Given the description of an element on the screen output the (x, y) to click on. 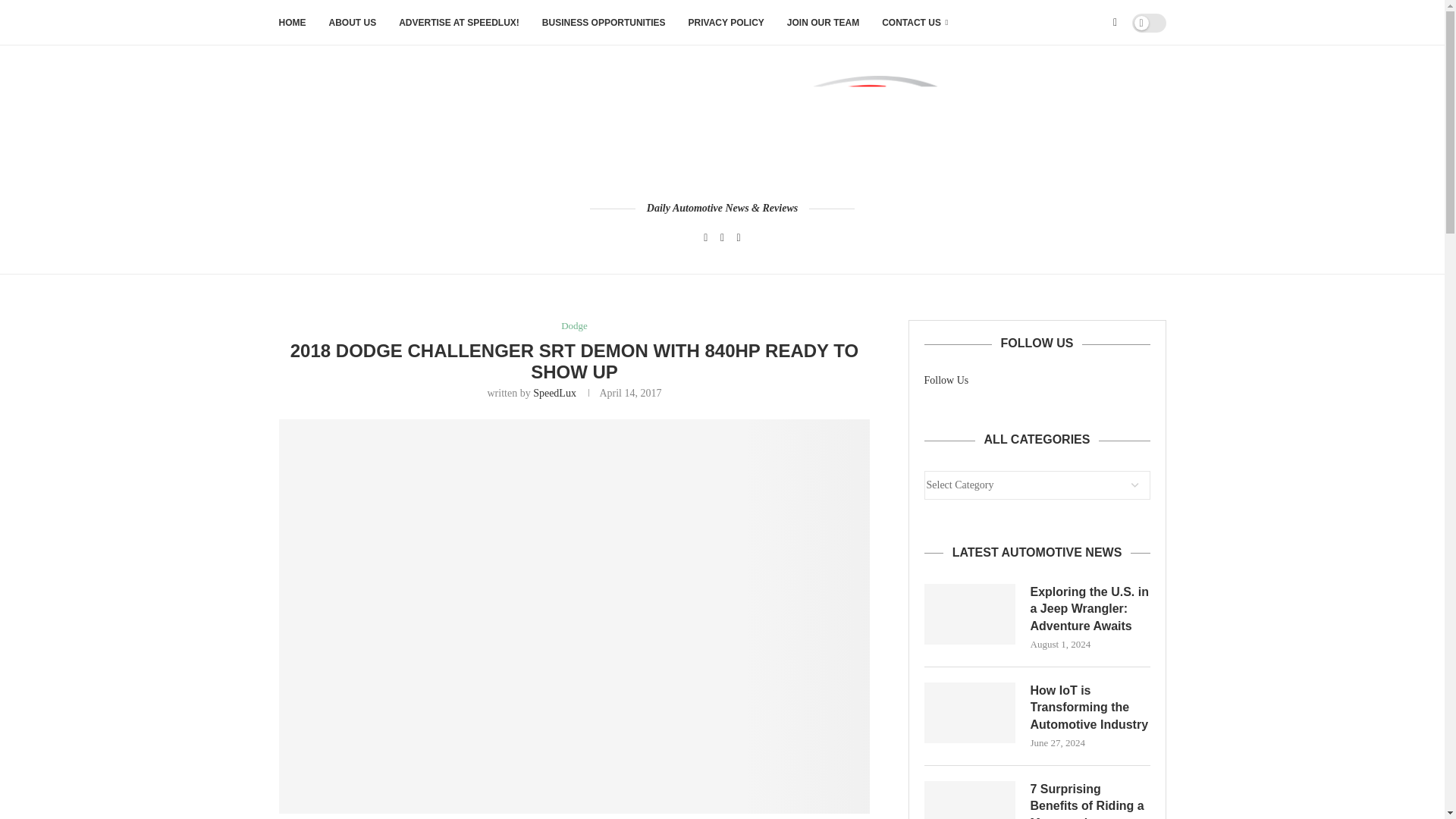
BUSINESS OPPORTUNITIES (603, 22)
PRIVACY POLICY (726, 22)
CONTACT US (915, 22)
SpeedLux (554, 392)
Dodge (574, 326)
ABOUT US (353, 22)
JOIN OUR TEAM (823, 22)
ADVERTISE AT SPEEDLUX! (458, 22)
